Given the description of an element on the screen output the (x, y) to click on. 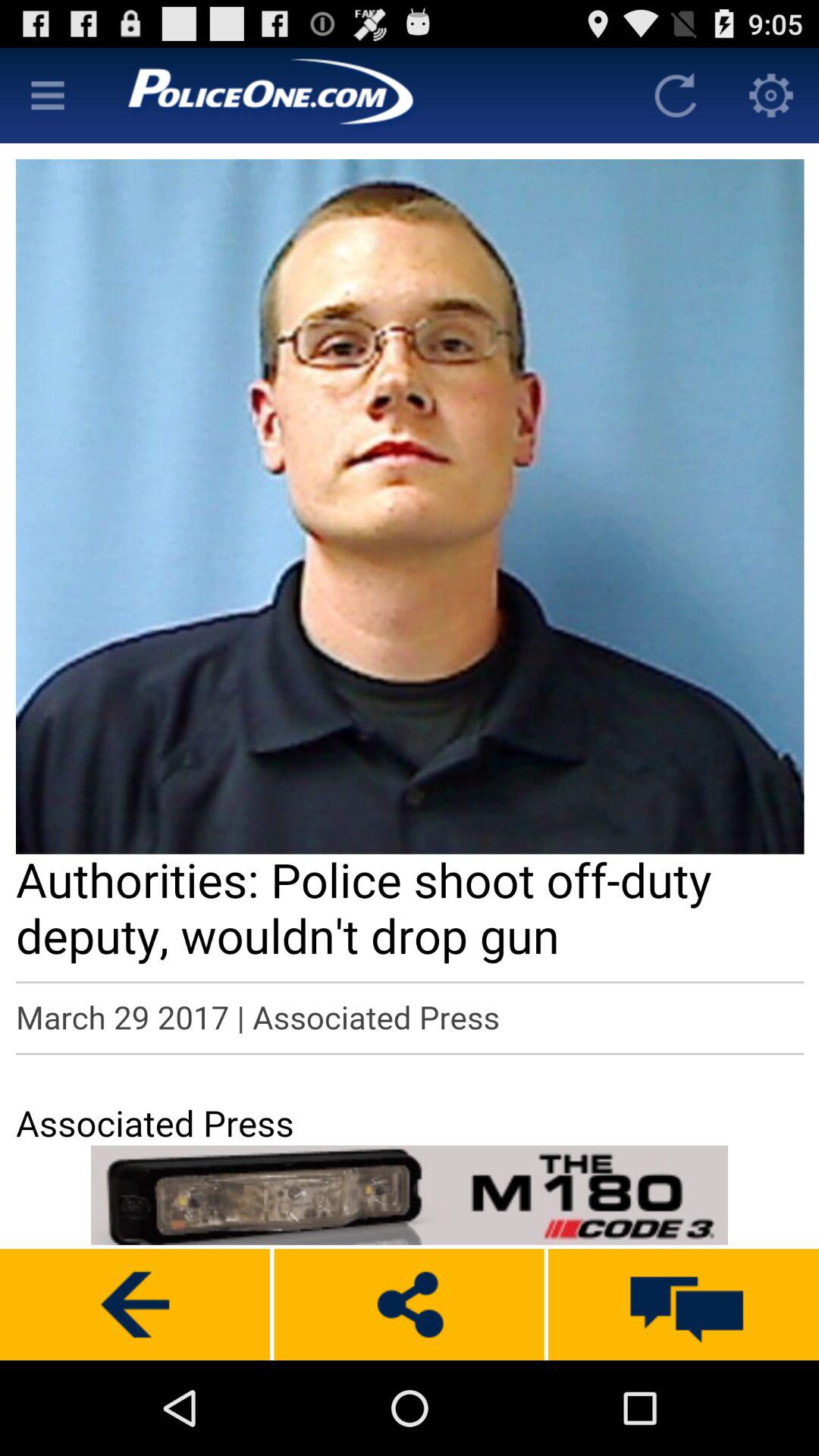
settings (771, 95)
